Given the description of an element on the screen output the (x, y) to click on. 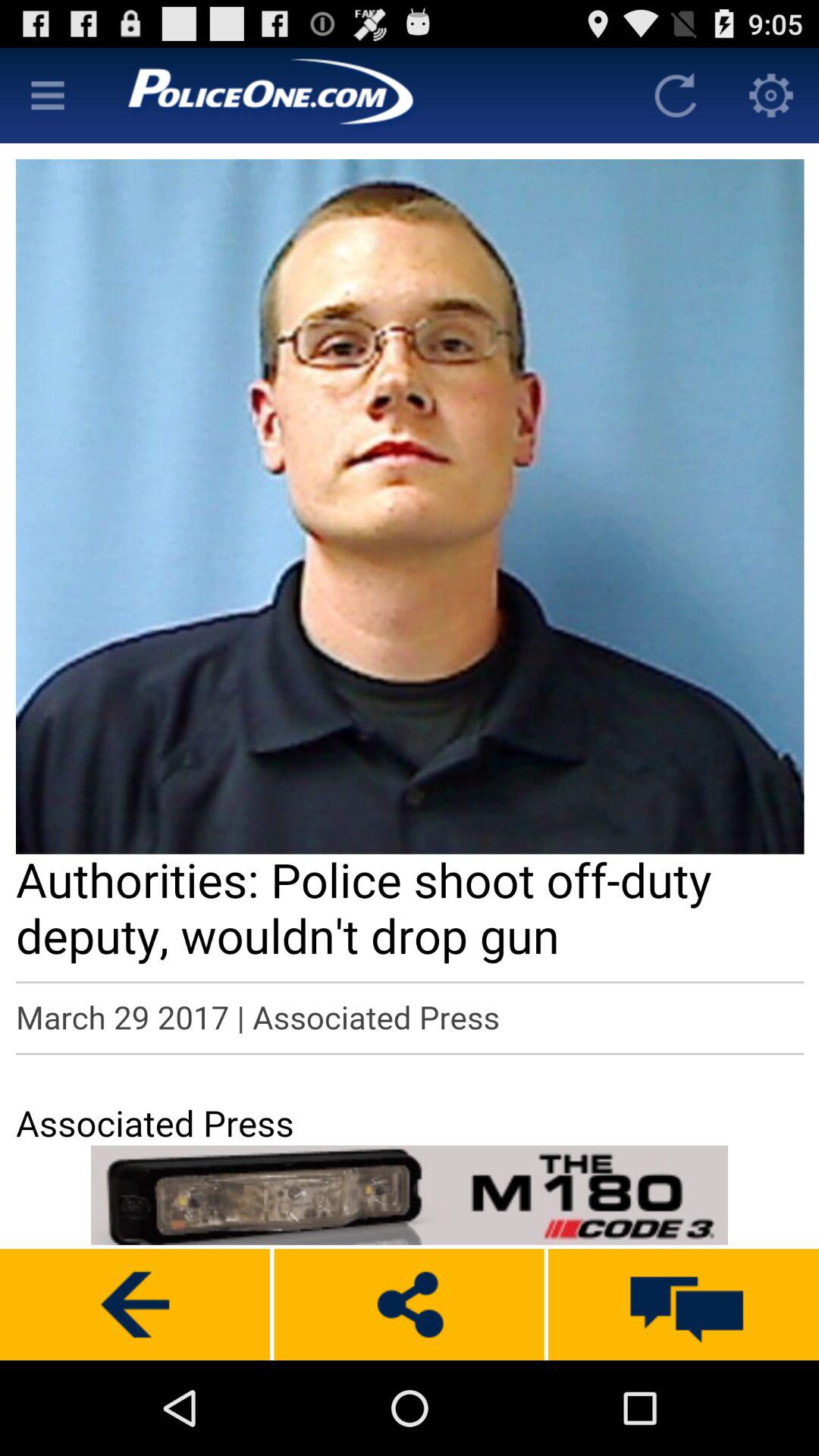
settings (771, 95)
